Given the description of an element on the screen output the (x, y) to click on. 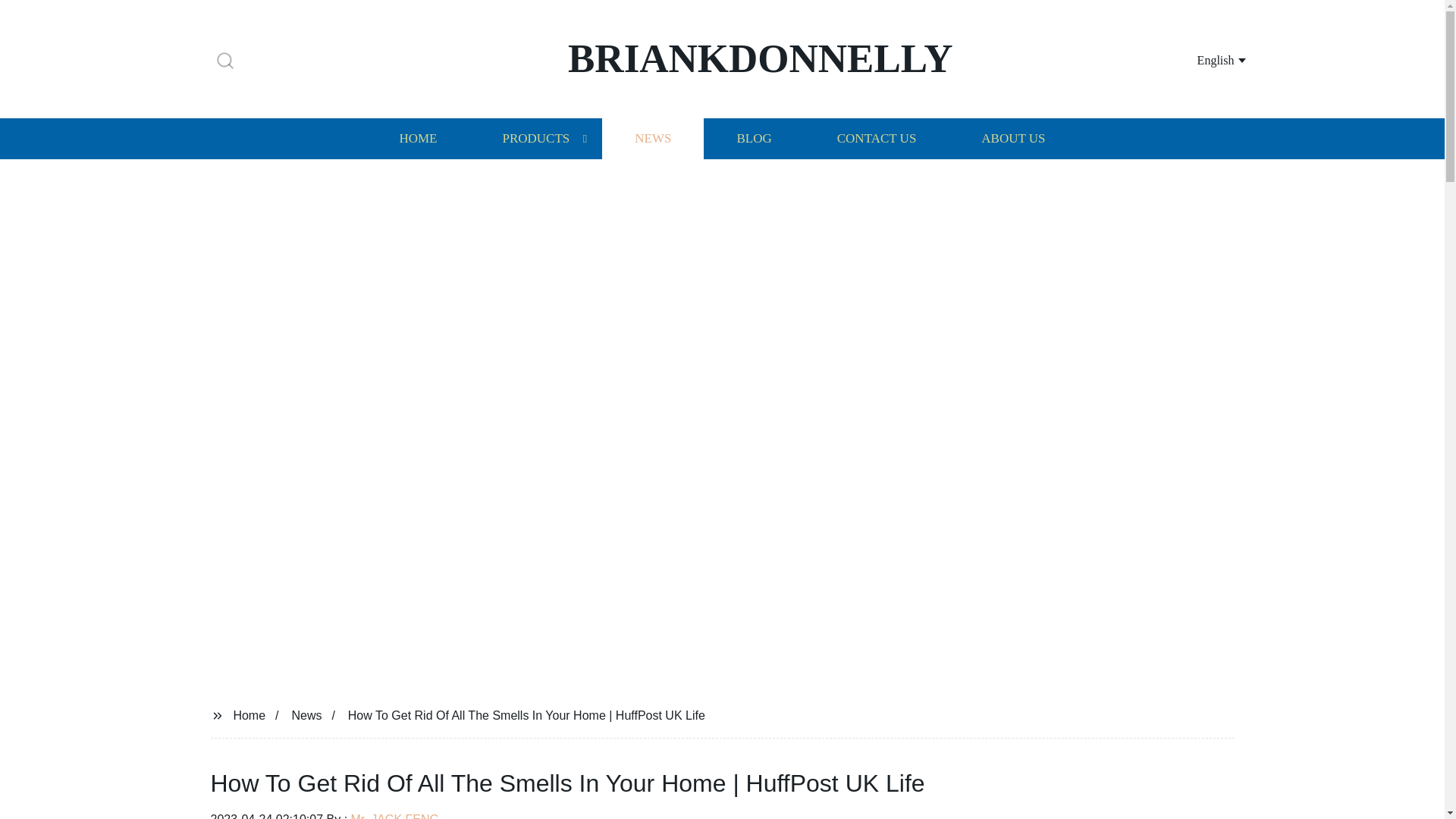
NEWS (652, 137)
English (1203, 59)
PRODUCTS (535, 137)
ABOUT US (1013, 137)
BLOG (753, 137)
English (1203, 59)
Home (248, 714)
News (306, 714)
HOME (417, 137)
CONTACT US (877, 137)
